Given the description of an element on the screen output the (x, y) to click on. 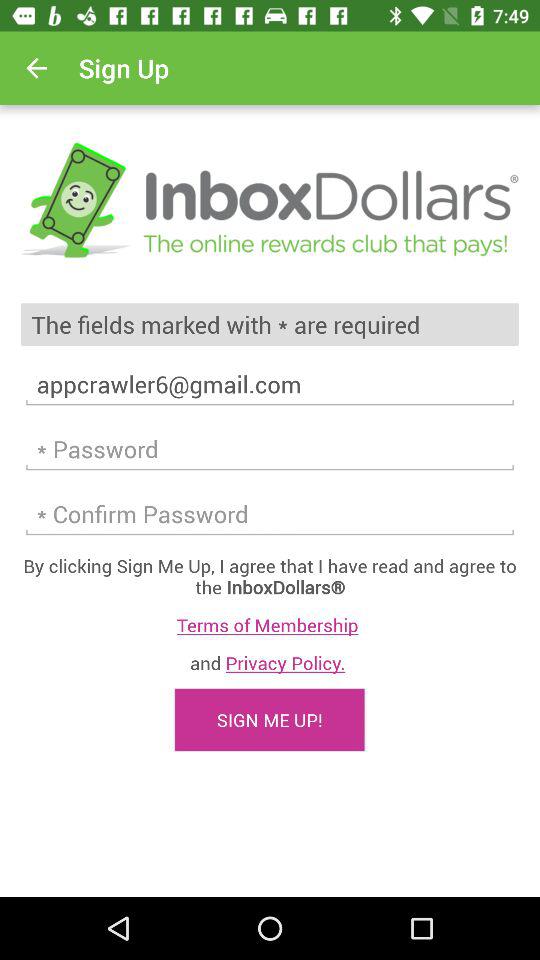
scroll until the and privacy policy. (270, 662)
